Given the description of an element on the screen output the (x, y) to click on. 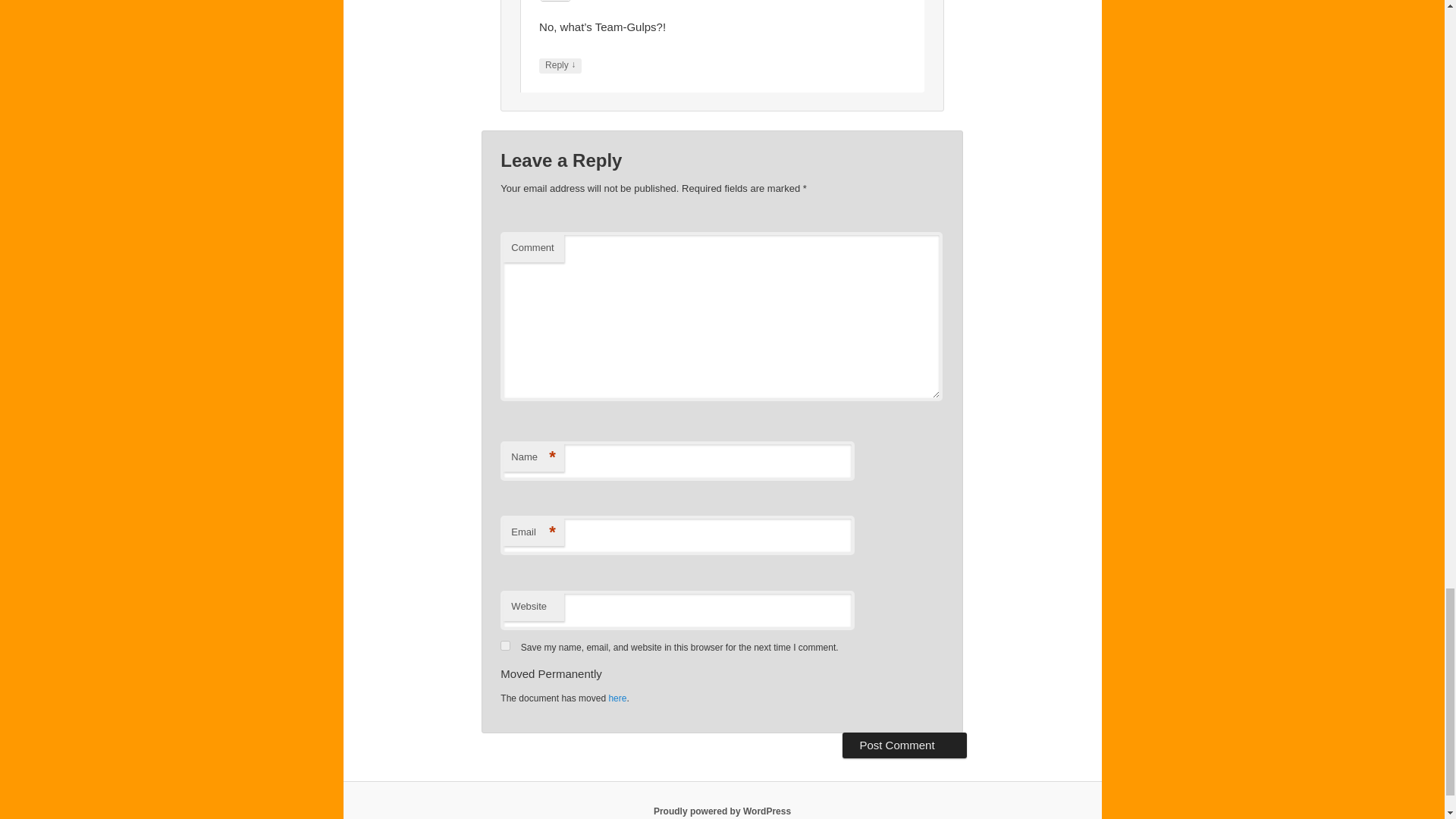
yes (505, 645)
Semantic Personal Publishing Platform (721, 810)
Proudly powered by WordPress (721, 810)
here (617, 697)
Post Comment (904, 745)
Post Comment (904, 745)
